Given the description of an element on the screen output the (x, y) to click on. 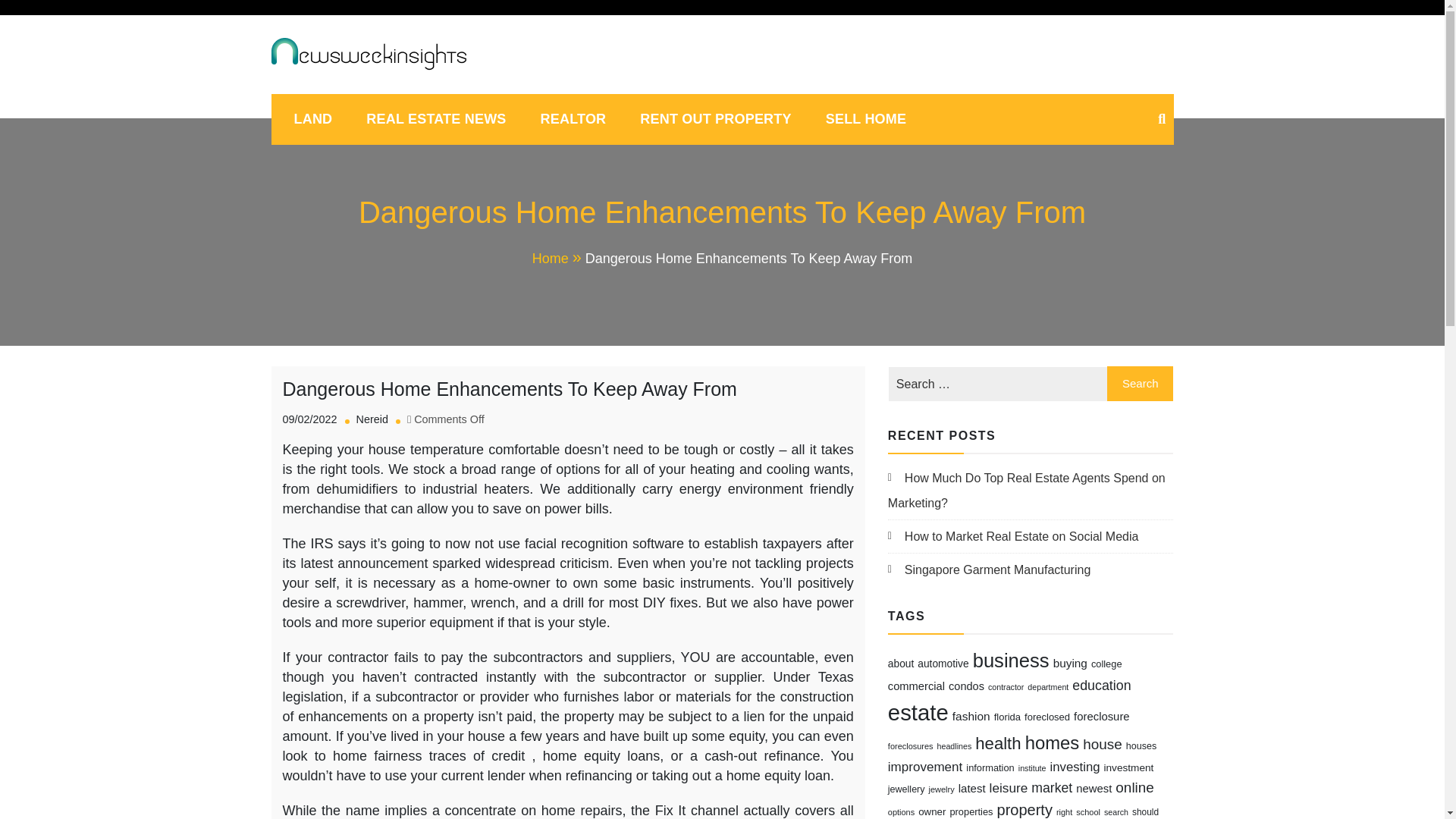
commercial (916, 686)
How to Market Real Estate on Social Media (1013, 535)
headlines (954, 746)
Search (1139, 383)
condos (966, 686)
department (1047, 686)
Home (558, 258)
RENT OUT PROPERTY (715, 119)
Nereid (372, 419)
SELL HOME (865, 119)
estate (918, 712)
REALTOR (573, 119)
foreclosures (910, 746)
contractor (1005, 686)
Search (1139, 383)
